Given the description of an element on the screen output the (x, y) to click on. 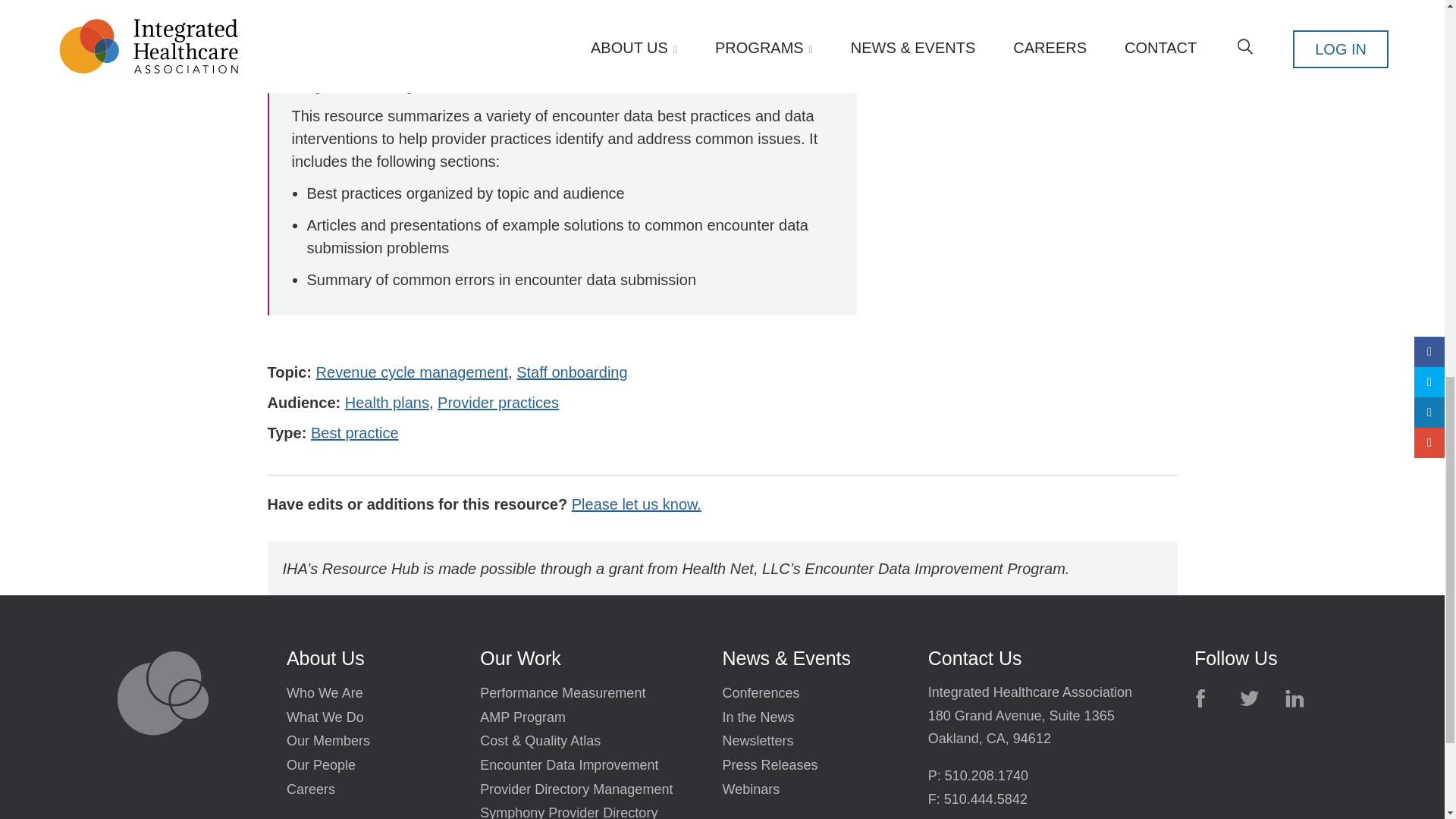
Revenue cycle management (411, 373)
Please let us know. (636, 506)
Best practice (354, 435)
Health plans (387, 404)
Staff onboarding (571, 373)
Provider practices (498, 404)
